Given the description of an element on the screen output the (x, y) to click on. 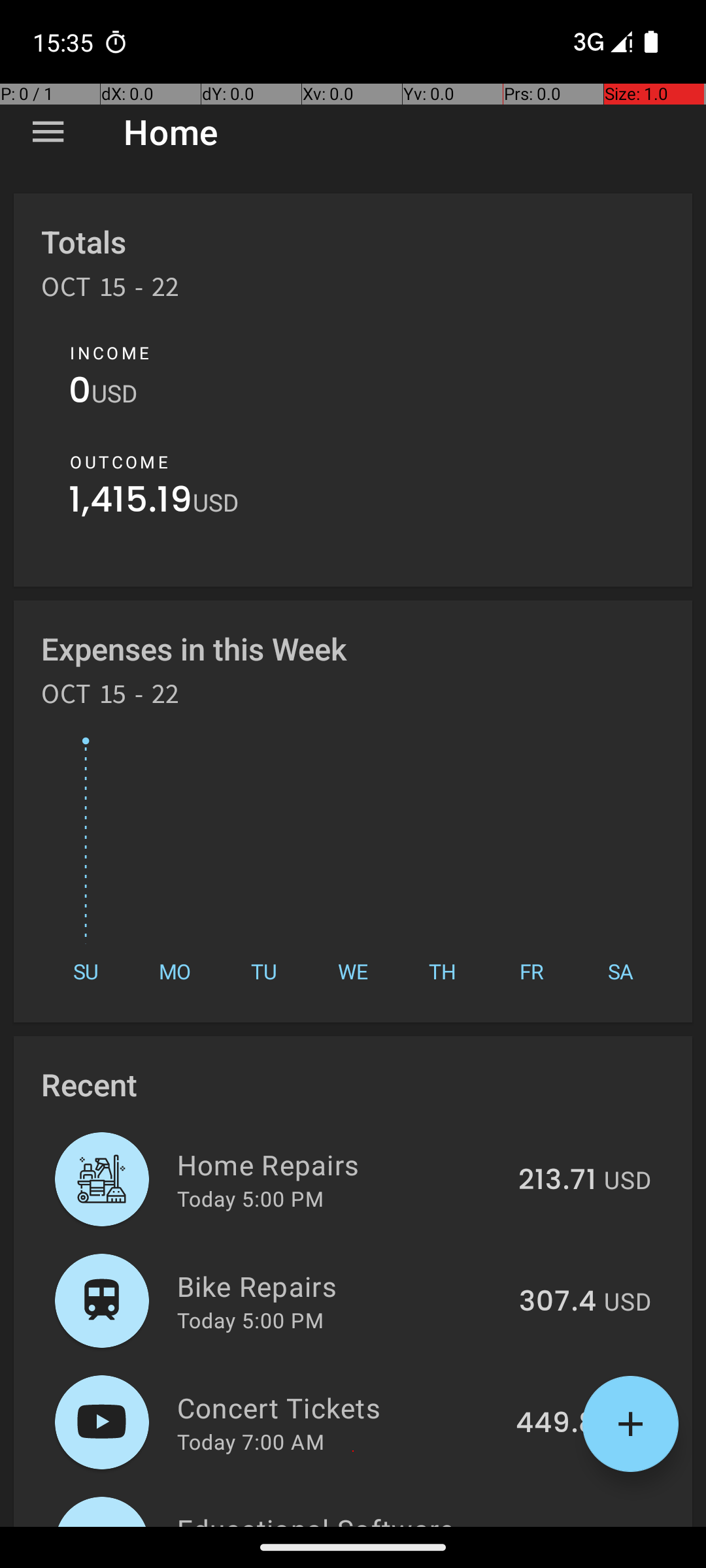
1,415.19 Element type: android.widget.TextView (130, 502)
Home Repairs Element type: android.widget.TextView (340, 1164)
213.71 Element type: android.widget.TextView (556, 1180)
307.4 Element type: android.widget.TextView (557, 1301)
Concert Tickets Element type: android.widget.TextView (338, 1407)
Today 7:00 AM Element type: android.widget.TextView (250, 1441)
449.8 Element type: android.widget.TextView (555, 1423)
Educational Software Element type: android.widget.TextView (336, 1518)
157.22 Element type: android.widget.TextView (553, 1524)
